Given the description of an element on the screen output the (x, y) to click on. 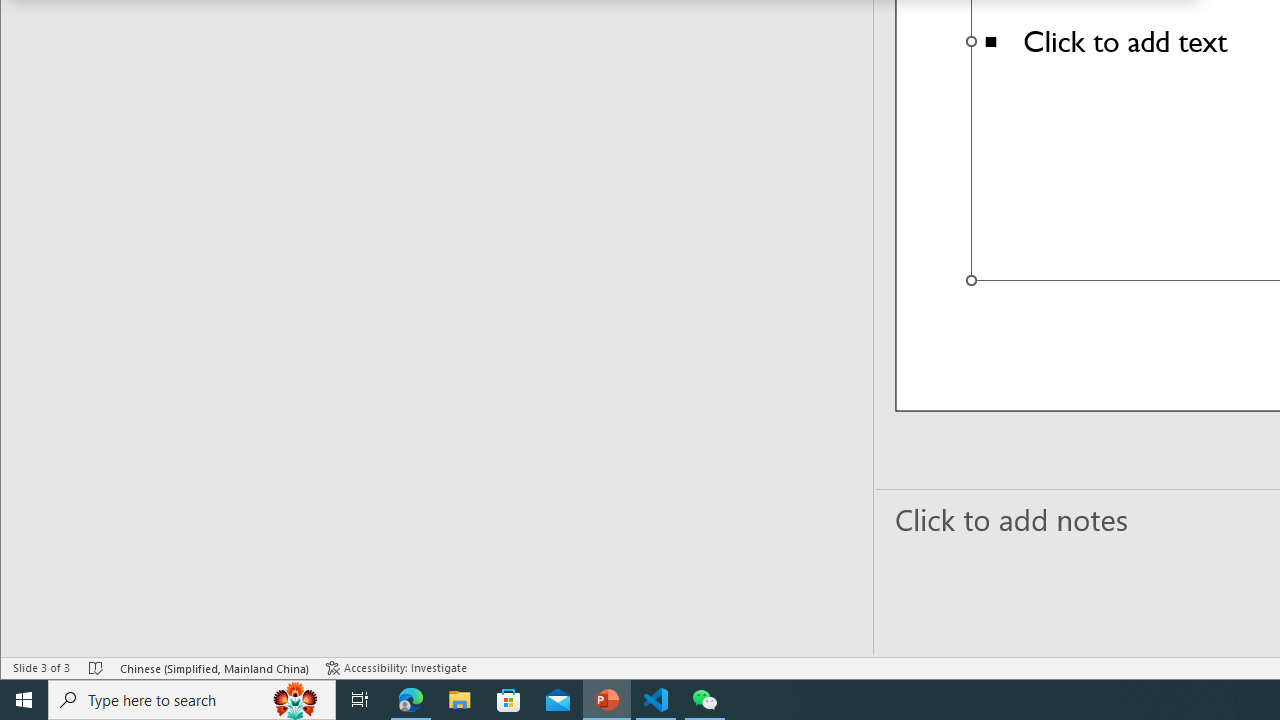
WeChat - 1 running window (704, 699)
Microsoft Edge - 1 running window (411, 699)
